Given the description of an element on the screen output the (x, y) to click on. 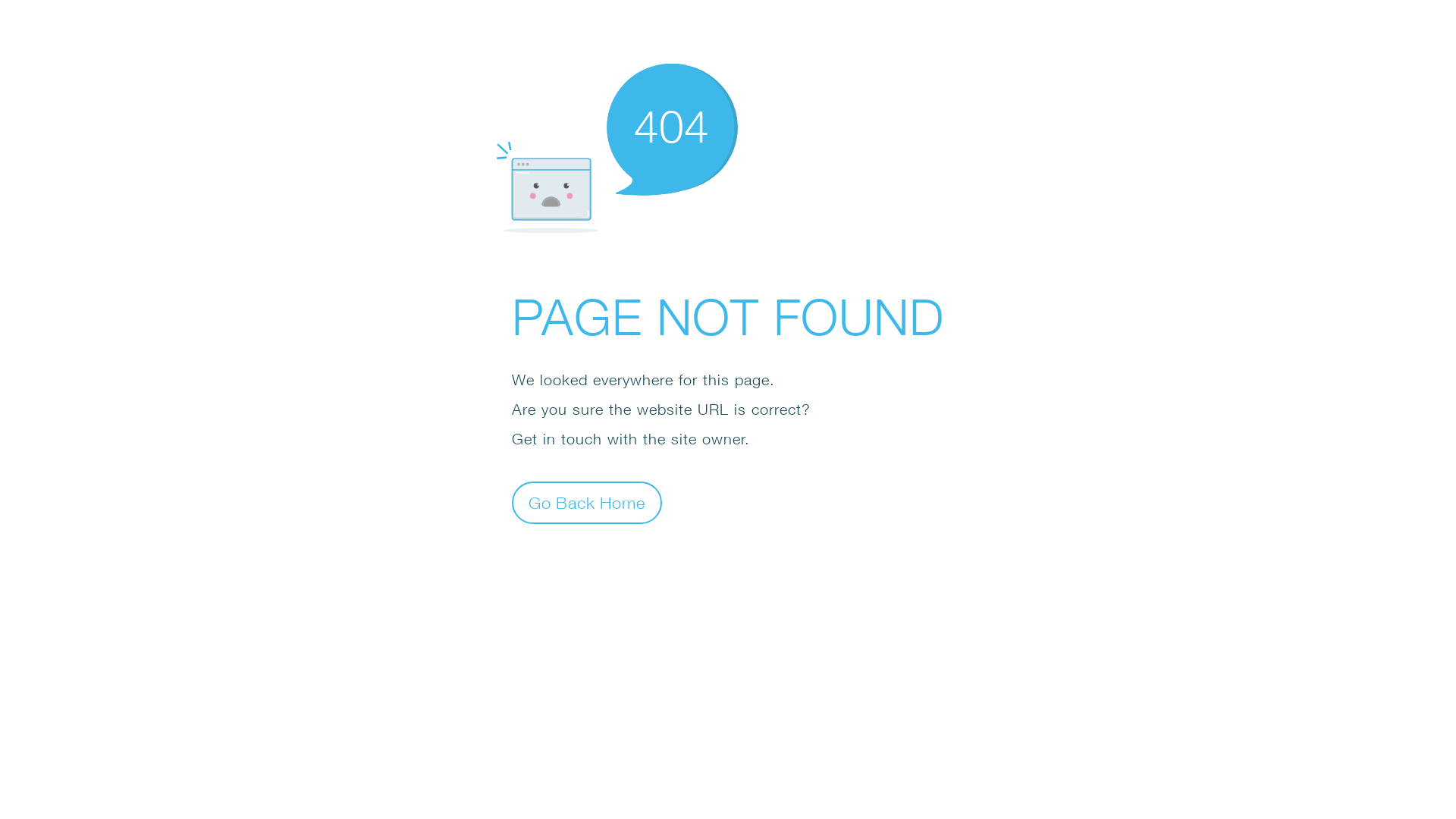
Go Back Home Element type: text (586, 502)
